Given the description of an element on the screen output the (x, y) to click on. 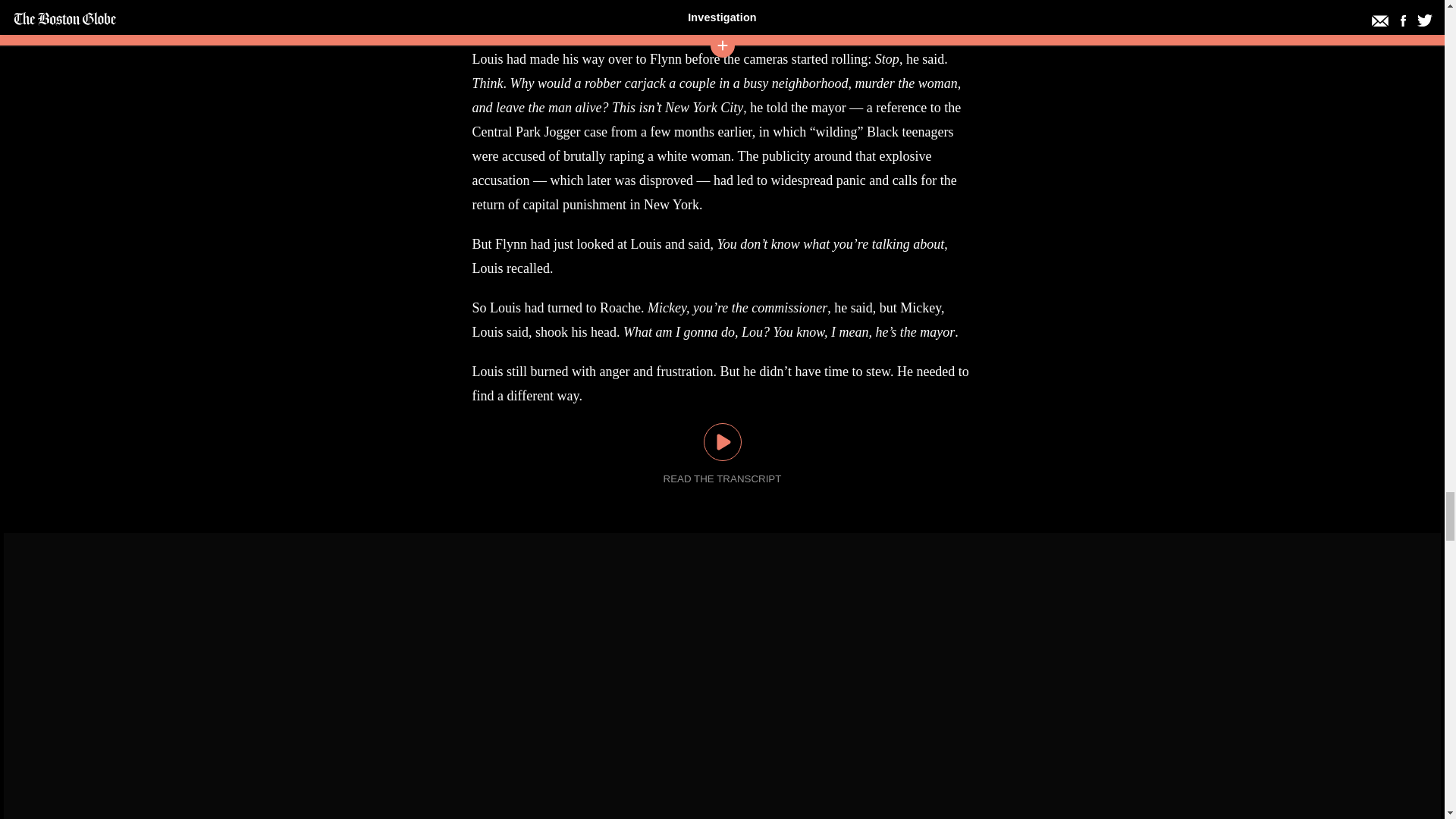
READ THE TRANSCRIPT (722, 478)
